Given the description of an element on the screen output the (x, y) to click on. 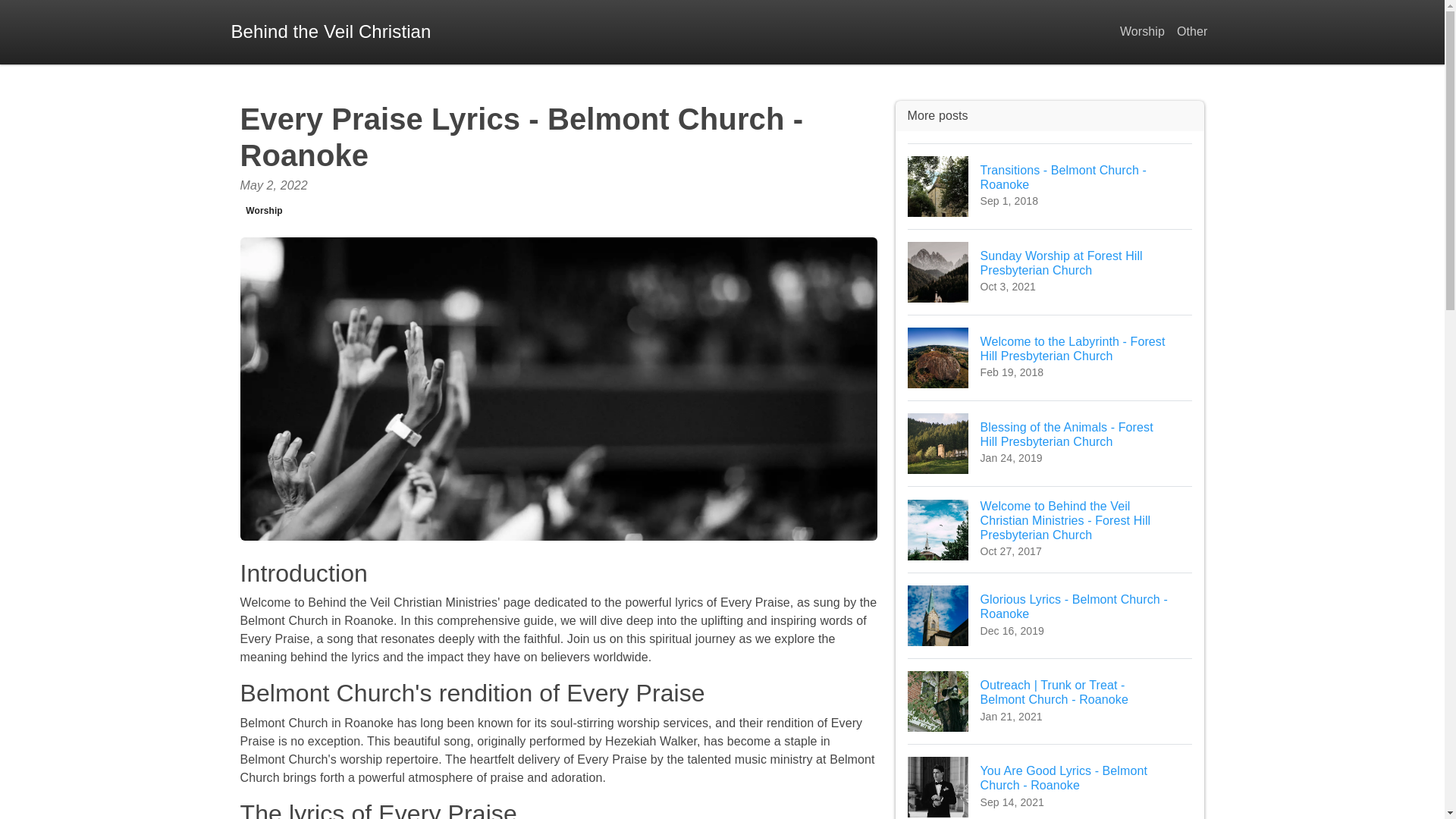
Worship (264, 210)
Other (1049, 186)
Behind the Veil Christian (1049, 781)
